Given the description of an element on the screen output the (x, y) to click on. 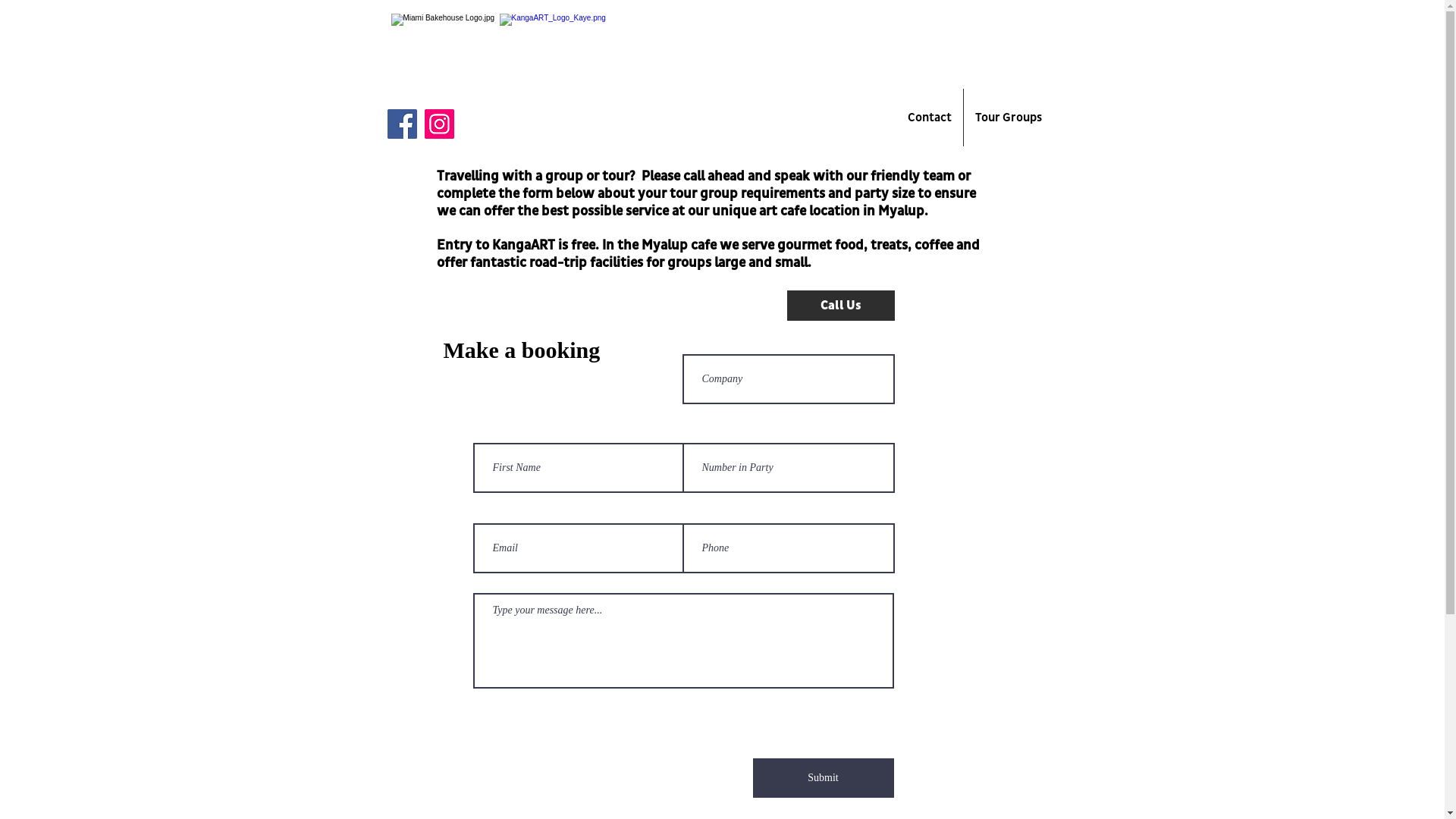
Contact Element type: text (929, 117)
Call Us Element type: text (840, 305)
Submit Element type: text (822, 777)
Tour Groups Element type: text (1008, 117)
